Given the description of an element on the screen output the (x, y) to click on. 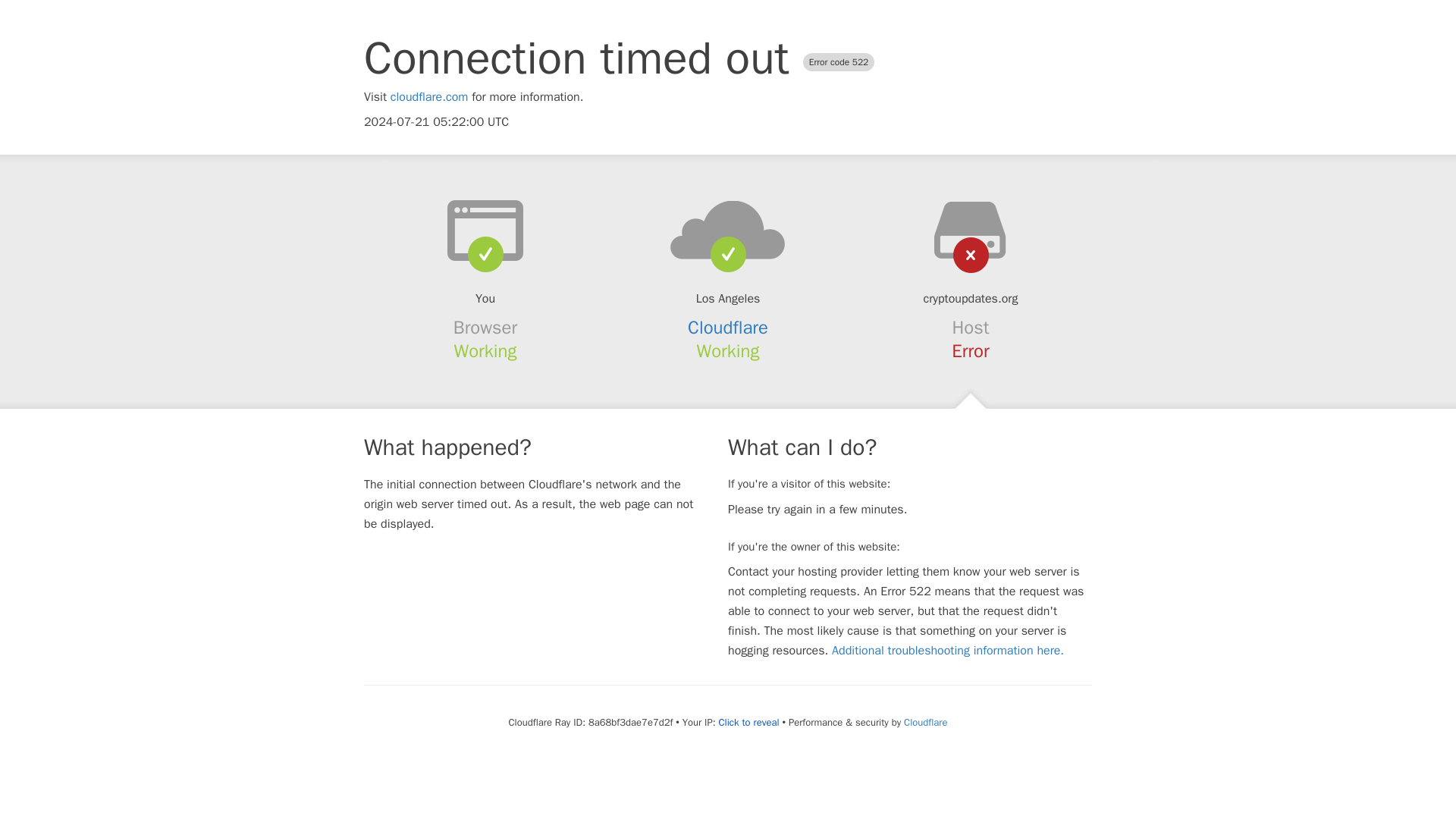
Cloudflare (925, 721)
cloudflare.com (429, 96)
Additional troubleshooting information here. (947, 650)
Cloudflare (727, 327)
Click to reveal (748, 722)
